Given the description of an element on the screen output the (x, y) to click on. 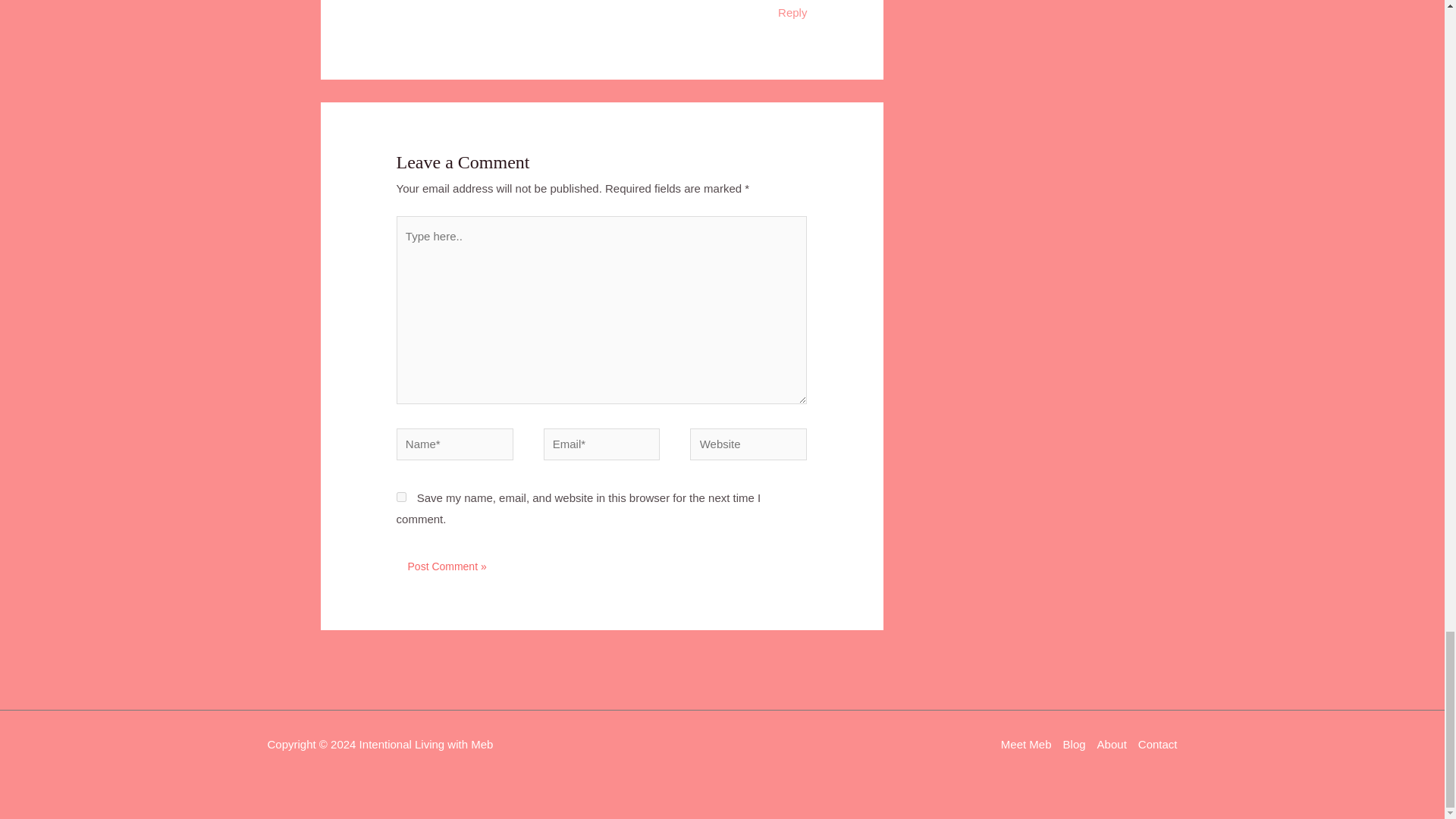
Reply (791, 11)
yes (401, 497)
